Given the description of an element on the screen output the (x, y) to click on. 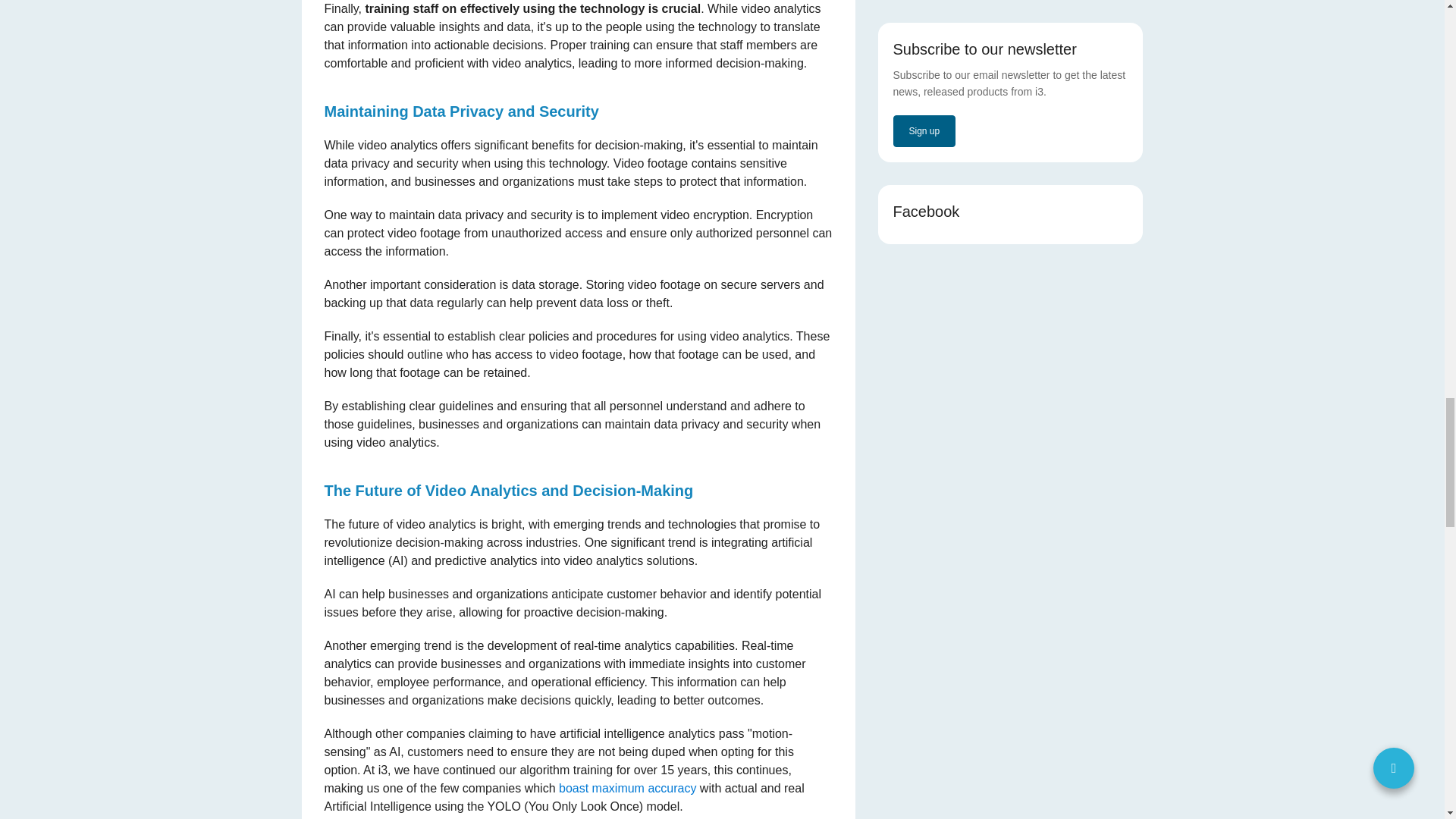
boast maximum accuracy (626, 788)
